Given the description of an element on the screen output the (x, y) to click on. 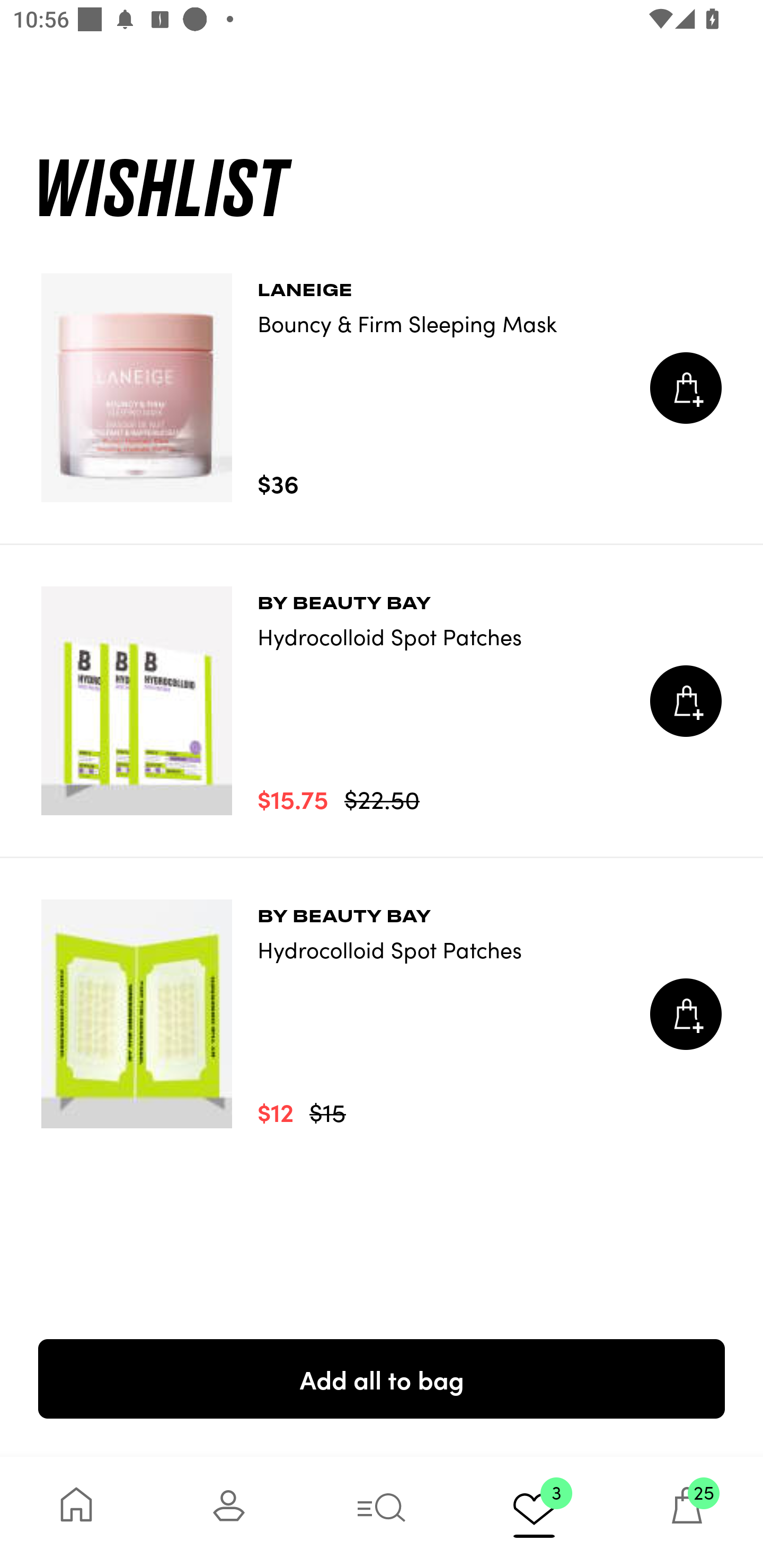
LANEIGE Bouncy & Firm Sleeping Mask $36 (381, 388)
BY BEAUTY BAY Hydrocolloid Spot Patches $12 $15 (381, 1013)
Add all to bag (381, 1379)
3 (533, 1512)
25 (686, 1512)
